Given the description of an element on the screen output the (x, y) to click on. 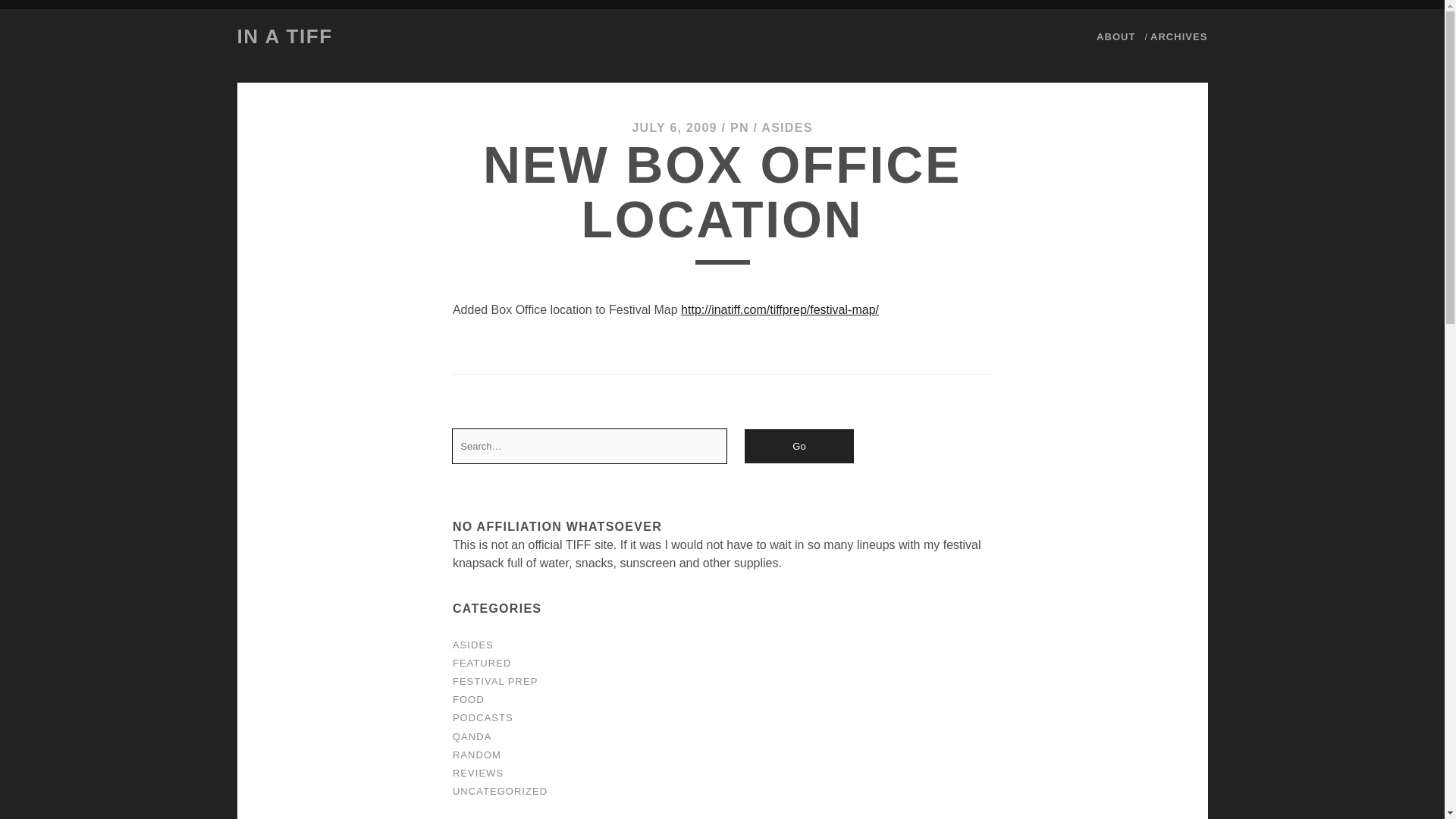
FEATURED (481, 663)
FOOD (468, 699)
Go (798, 446)
ASIDES (786, 127)
PODCASTS (482, 717)
FESTIVAL PREP (495, 681)
UNCATEGORIZED (499, 790)
Go (798, 446)
ASIDES (472, 644)
ARCHIVES (1179, 36)
